Given the description of an element on the screen output the (x, y) to click on. 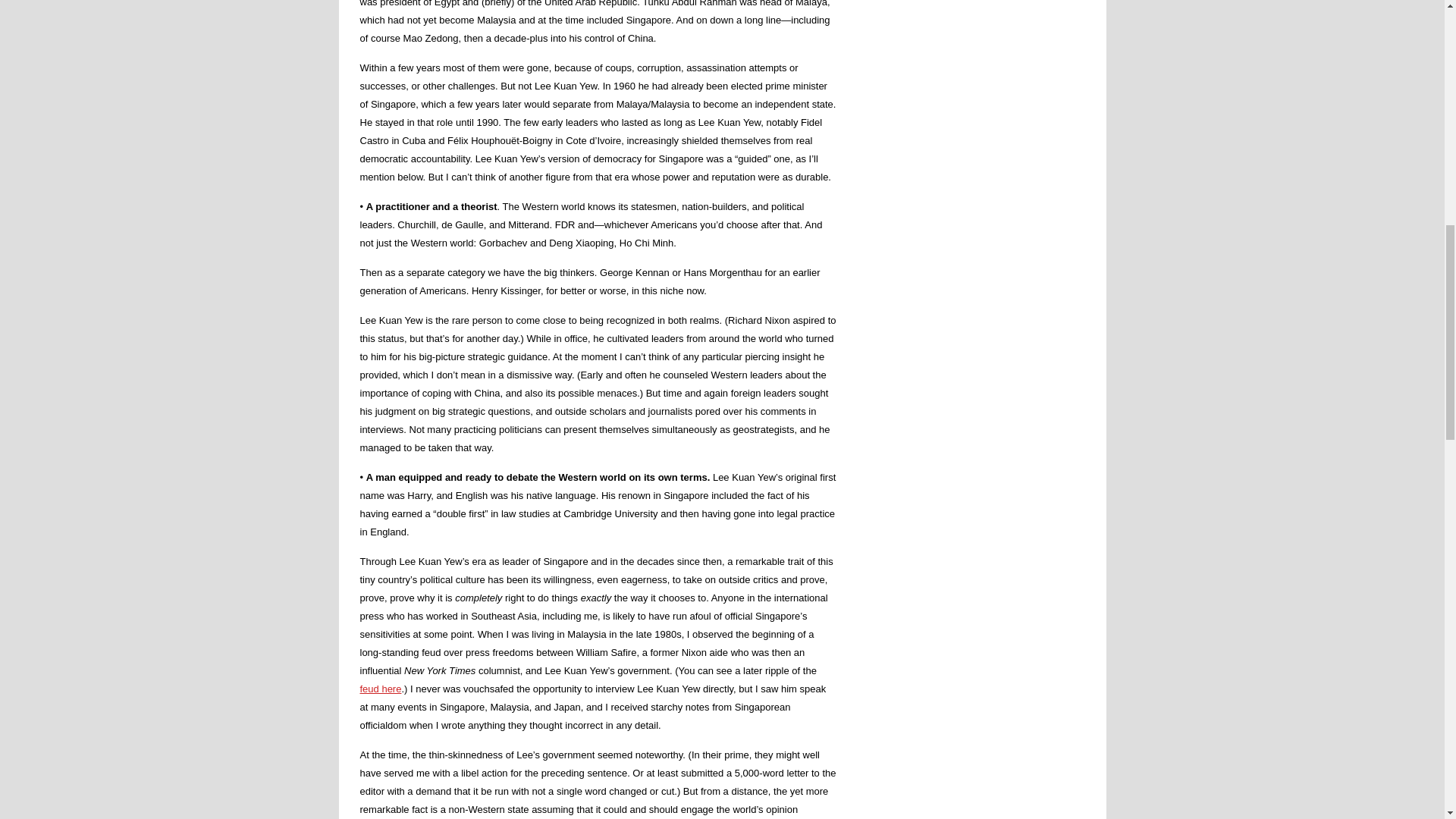
feud here (380, 688)
